Given the description of an element on the screen output the (x, y) to click on. 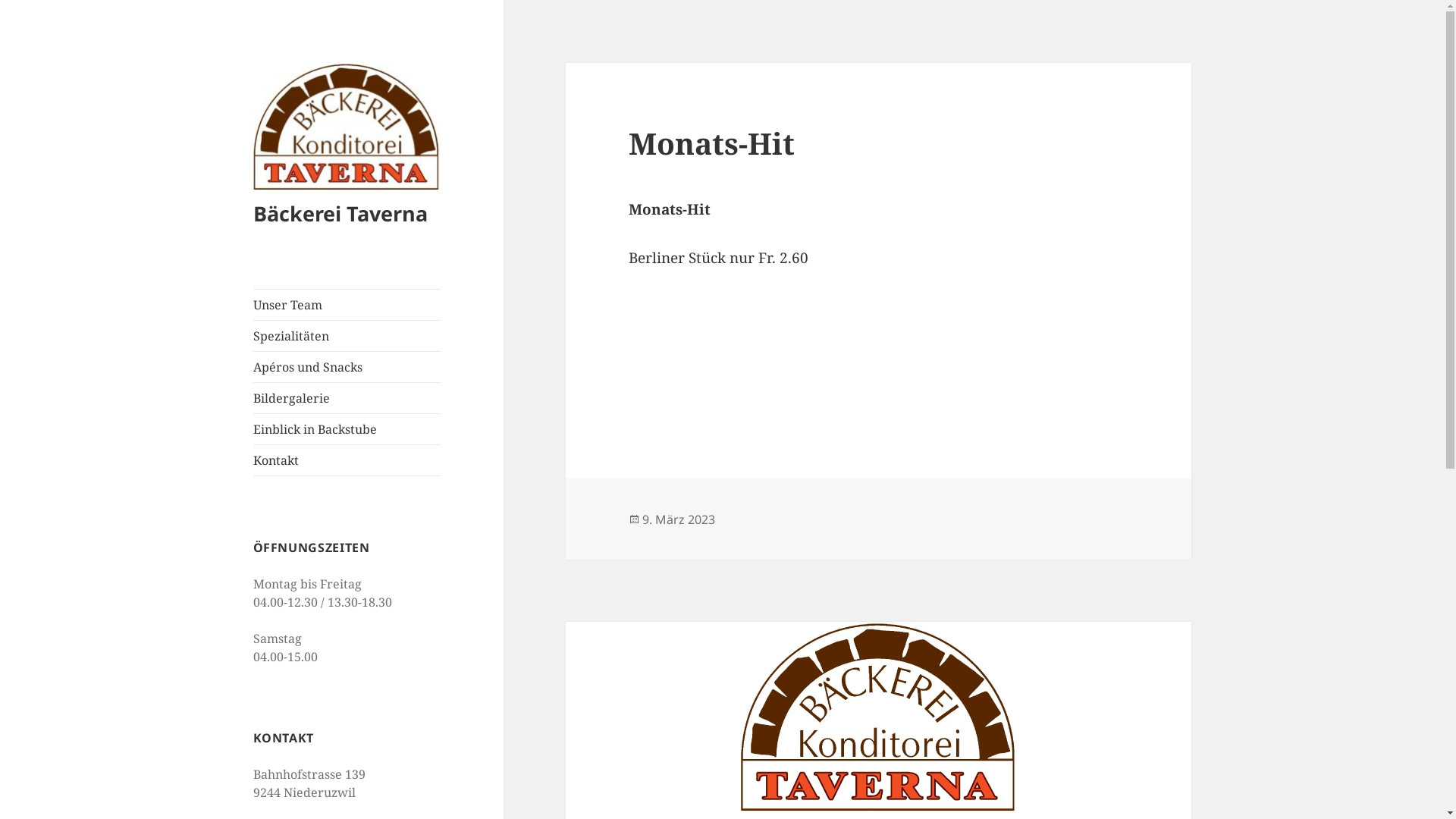
Einblick in Backstube Element type: text (347, 429)
Bildergalerie Element type: text (347, 397)
Monats-Hit Element type: text (711, 142)
Unser Team Element type: text (347, 304)
Kontakt Element type: text (347, 460)
